Given the description of an element on the screen output the (x, y) to click on. 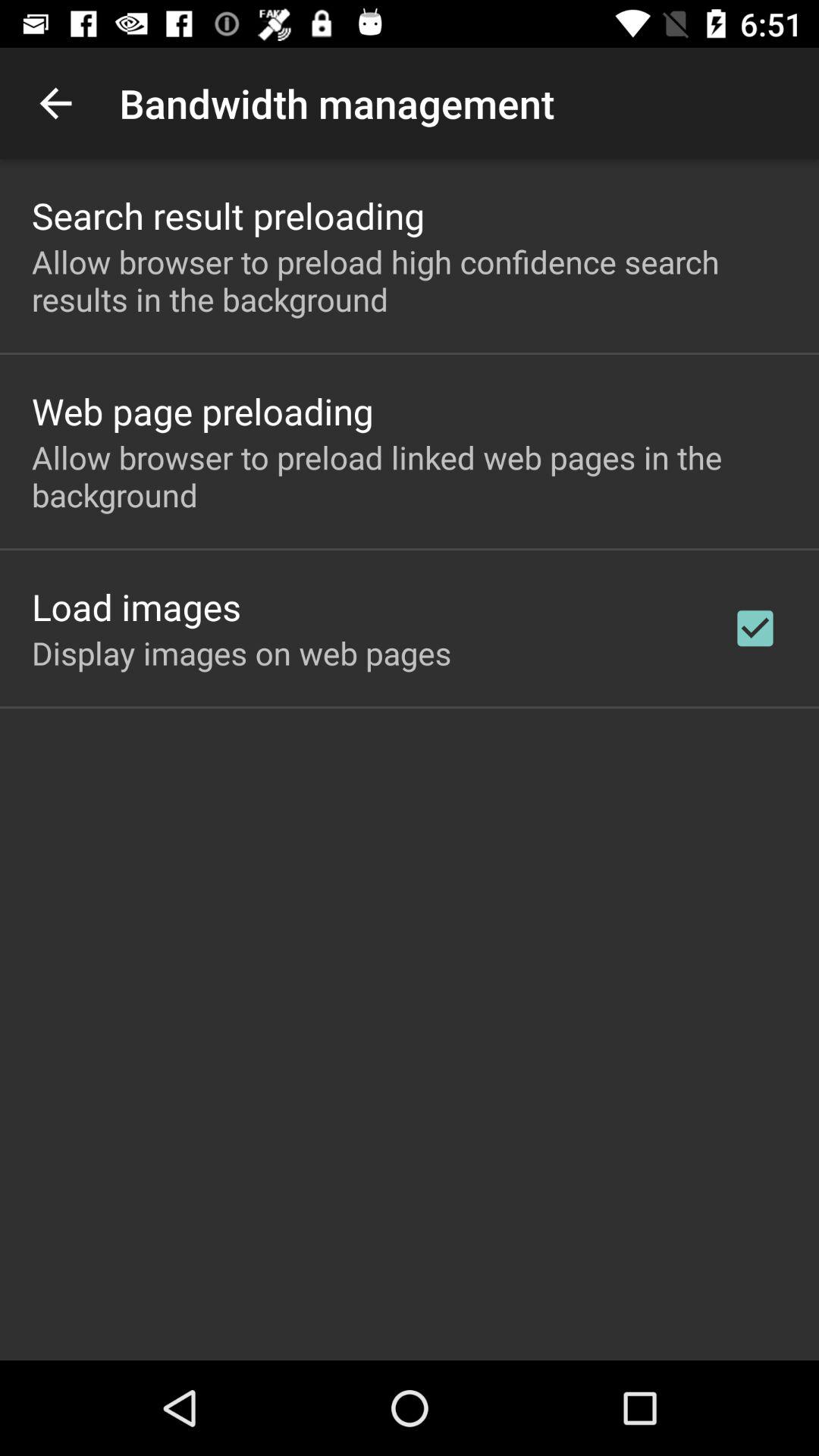
turn on the display images on (241, 652)
